Given the description of an element on the screen output the (x, y) to click on. 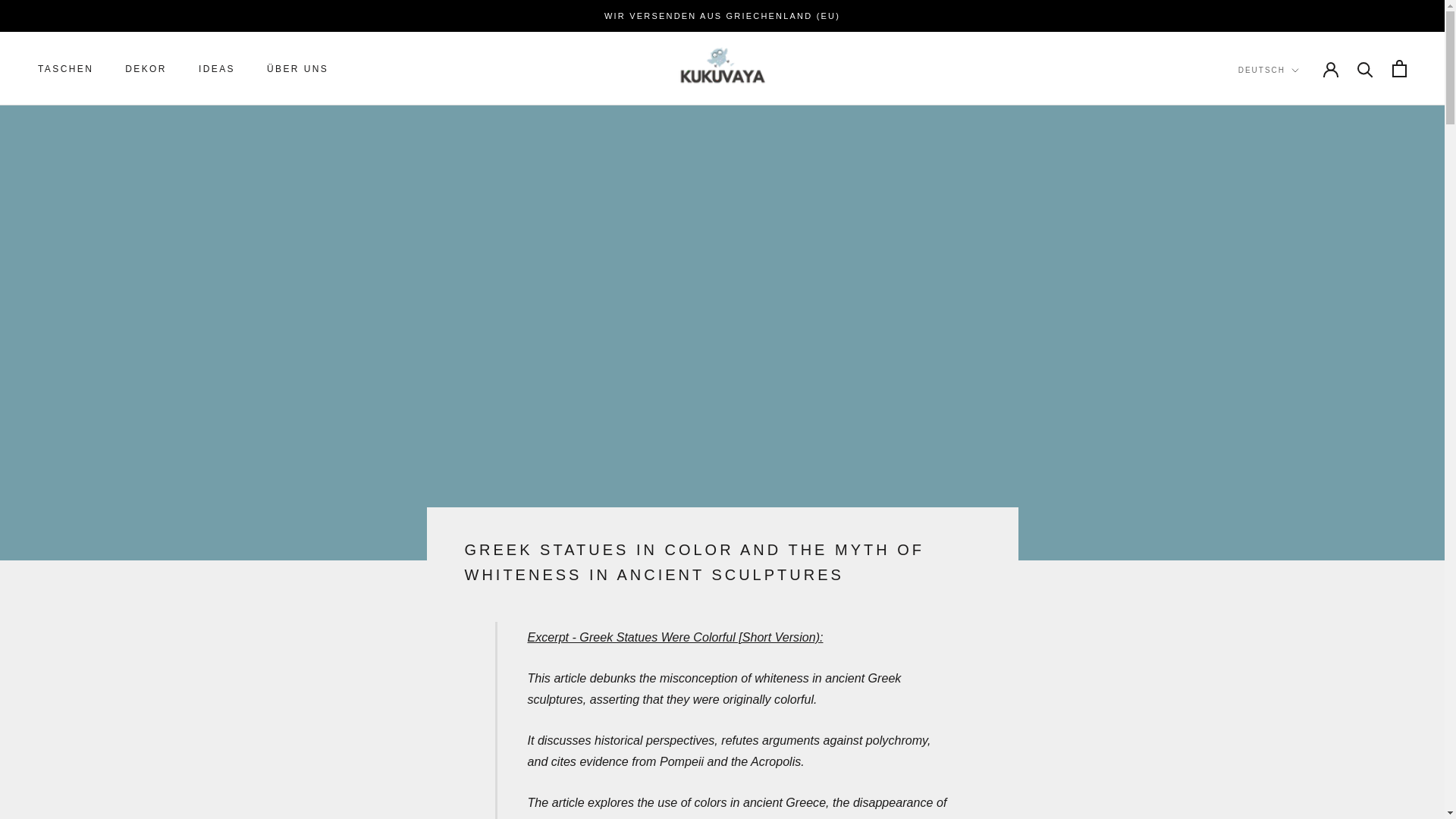
el (1288, 122)
DEUTSCH (65, 68)
en (1268, 70)
de (1288, 101)
